Given the description of an element on the screen output the (x, y) to click on. 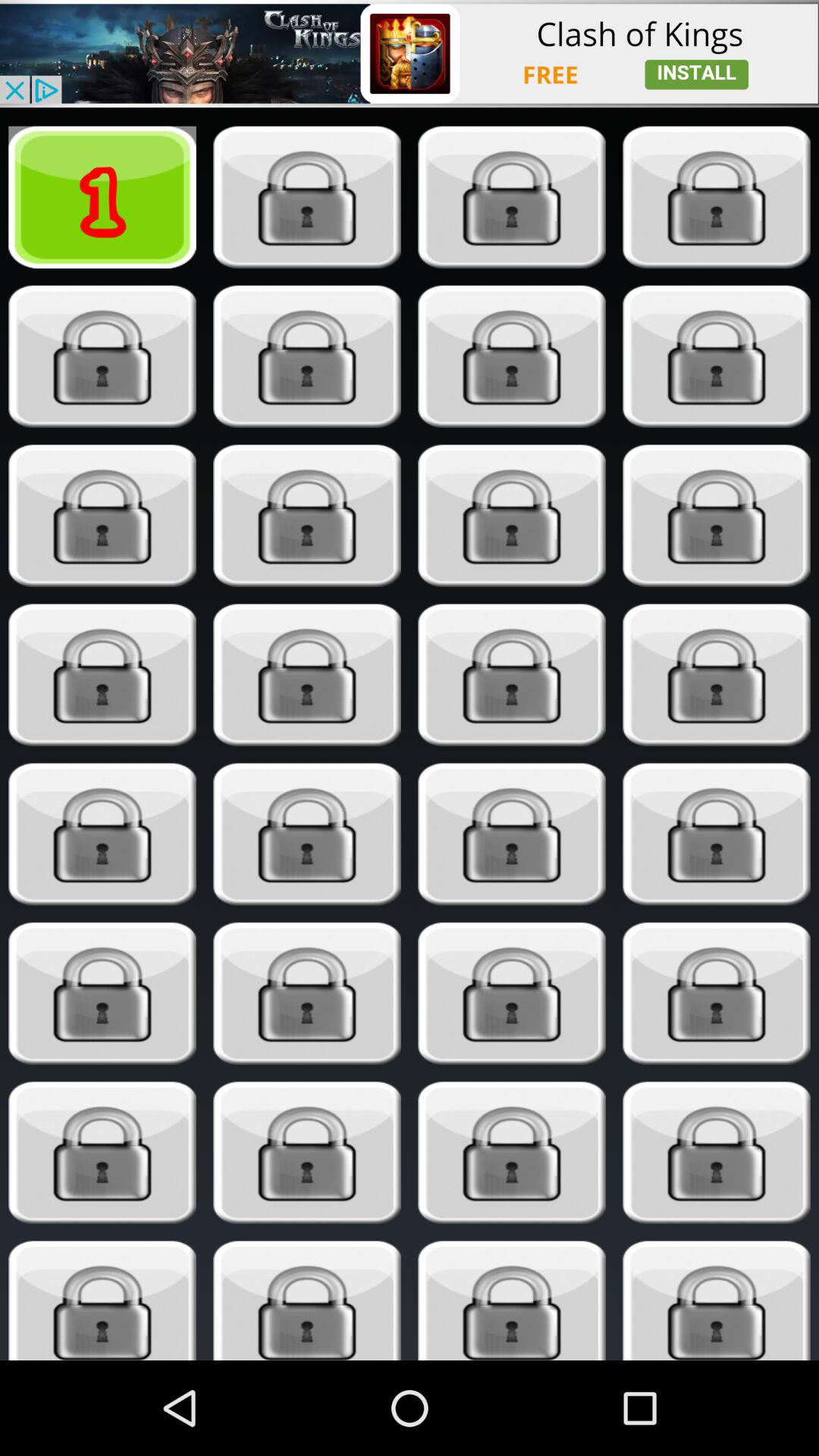
secret lock (716, 197)
